Given the description of an element on the screen output the (x, y) to click on. 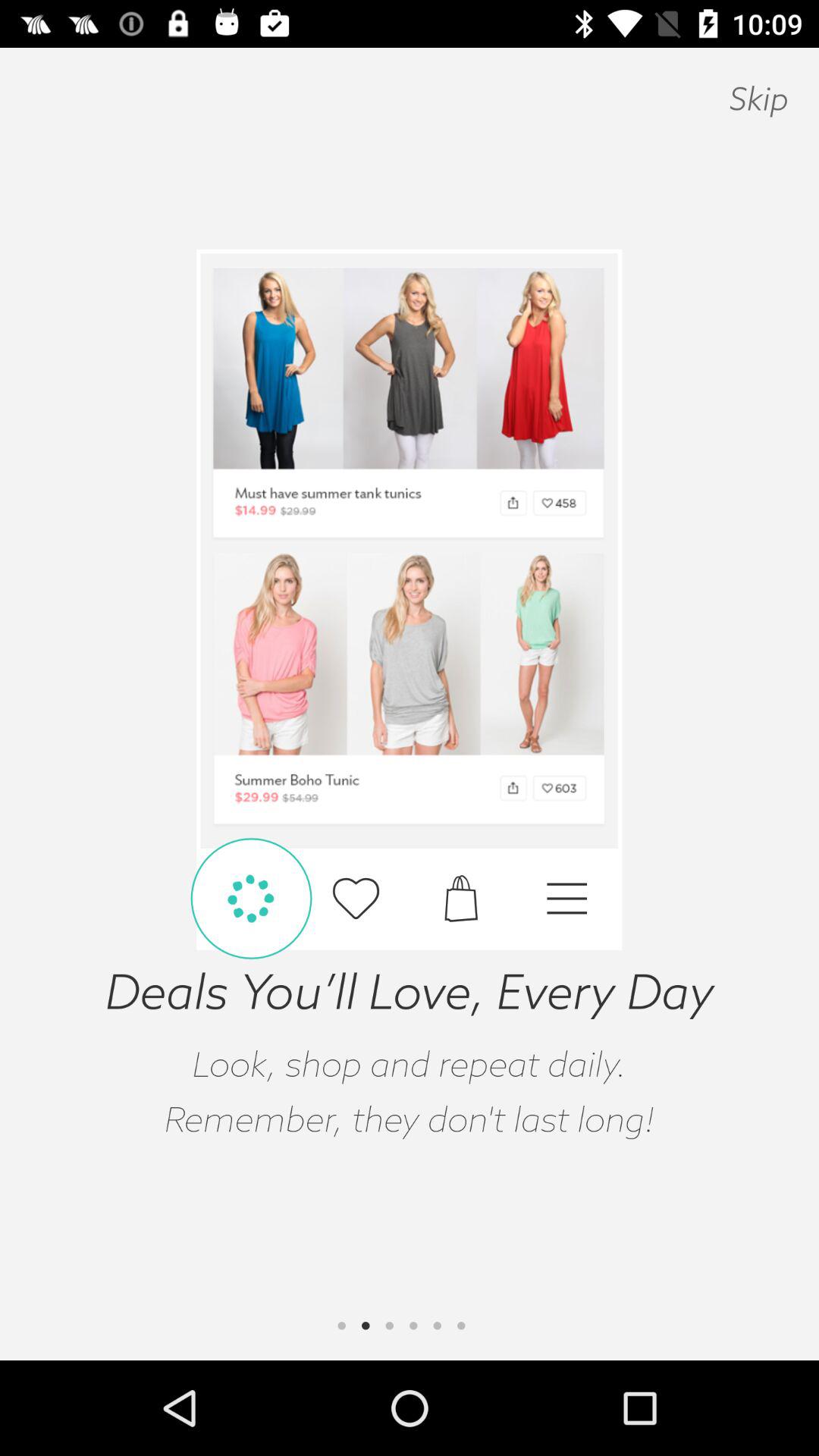
turn off skip icon (758, 98)
